Given the description of an element on the screen output the (x, y) to click on. 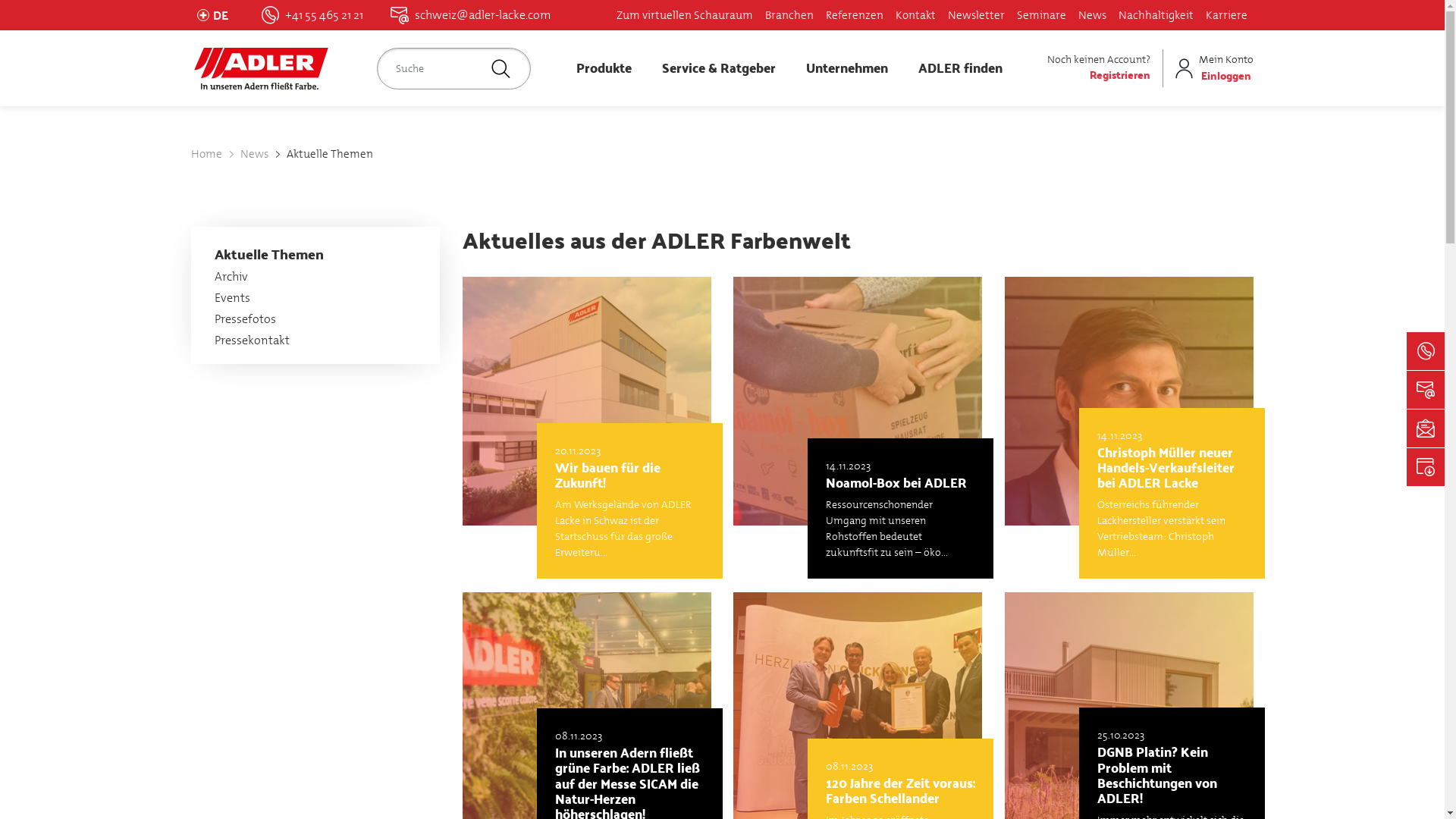
Newsletter Element type: text (975, 15)
Produkte Element type: text (603, 67)
Kontakt Element type: text (915, 15)
Mein Konto
Einloggen Element type: text (1211, 68)
Events Element type: text (232, 297)
Registrieren Element type: text (1119, 74)
Zum virtuellen Schauraum Element type: text (684, 15)
Archiv Element type: text (230, 276)
Referenzen Element type: text (854, 15)
Aktuelle Themen Element type: text (268, 253)
News Element type: text (1092, 15)
Newsletter abonnieren Element type: hover (1425, 428)
Karriere Element type: text (1226, 15)
Service & Ratgeber Element type: text (718, 67)
Branchen Element type: text (789, 15)
News Element type: text (254, 153)
Home Element type: text (206, 153)
Seminare Element type: text (1041, 15)
+41 55 465 21 21
(phone) Element type: text (312, 15)
Zum Anfrageformular Element type: hover (1425, 389)
Anfrage senden Element type: hover (1425, 351)
ADLER finden Element type: text (959, 67)
DE Element type: text (215, 15)
Nachhaltigkeit Element type: text (1155, 15)
Pressekontakt Element type: text (251, 340)
Downloadwarenkorb Element type: hover (1425, 467)
Aktuelle Themen Element type: text (329, 153)
schweiz@adler-lacke.com
(mail) Element type: text (470, 15)
Unternehmen Element type: text (846, 67)
Pressefotos Element type: text (245, 318)
